Given the description of an element on the screen output the (x, y) to click on. 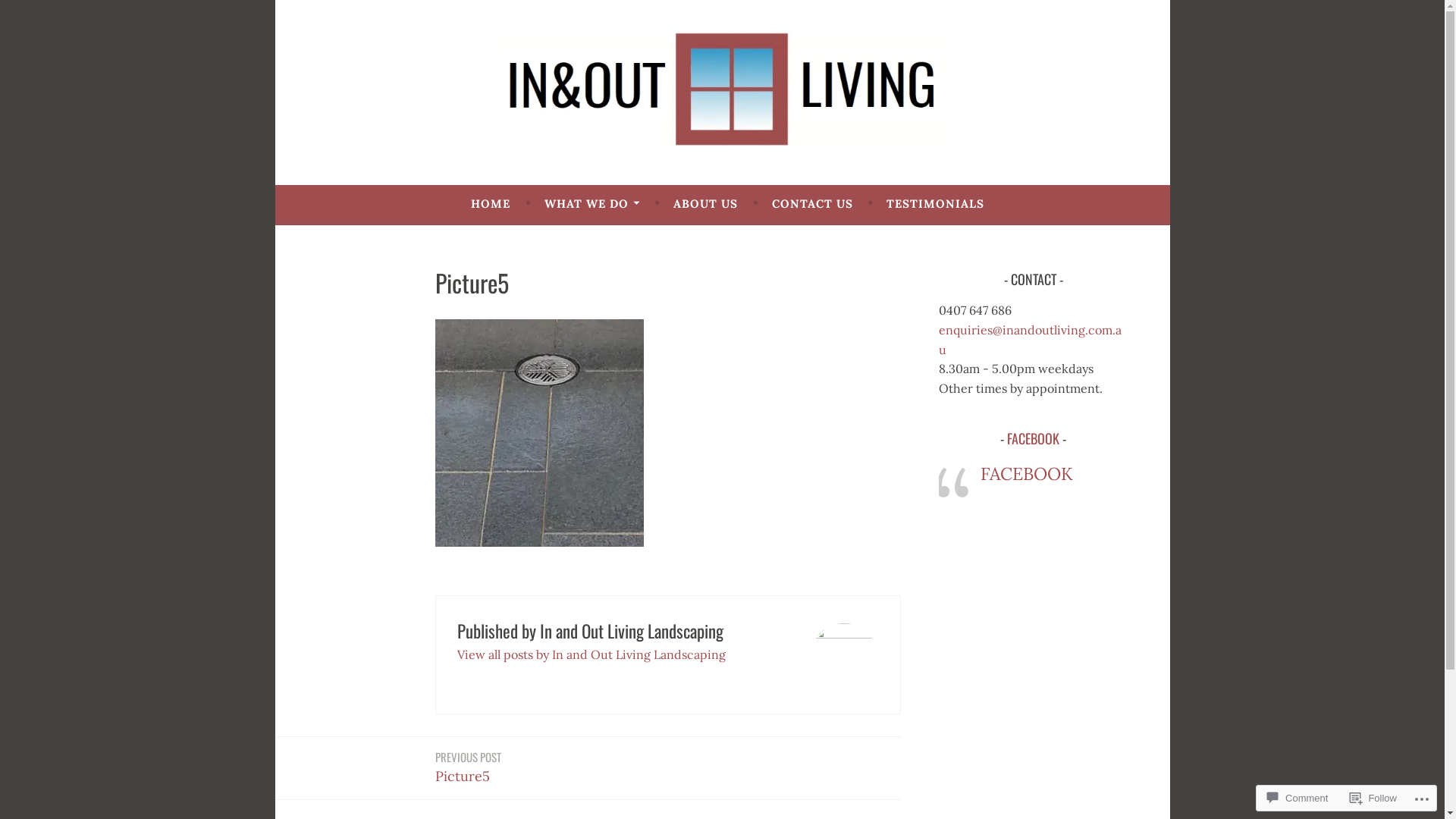
CONTACT US Element type: text (812, 203)
View all posts by In and Out Living Landscaping Element type: text (591, 654)
Comment Element type: text (1297, 797)
WHAT WE DO Element type: text (592, 203)
PREVIOUS POST
Picture5 Element type: text (468, 767)
FACEBOOK Element type: text (1026, 473)
enquiries@inandoutliving.com.au Element type: text (1029, 339)
TESTIMONIALS Element type: text (935, 203)
HOME Element type: text (490, 203)
FACEBOOK Element type: text (1033, 438)
ABOUT US Element type: text (705, 203)
Follow Element type: text (1372, 797)
